Given the description of an element on the screen output the (x, y) to click on. 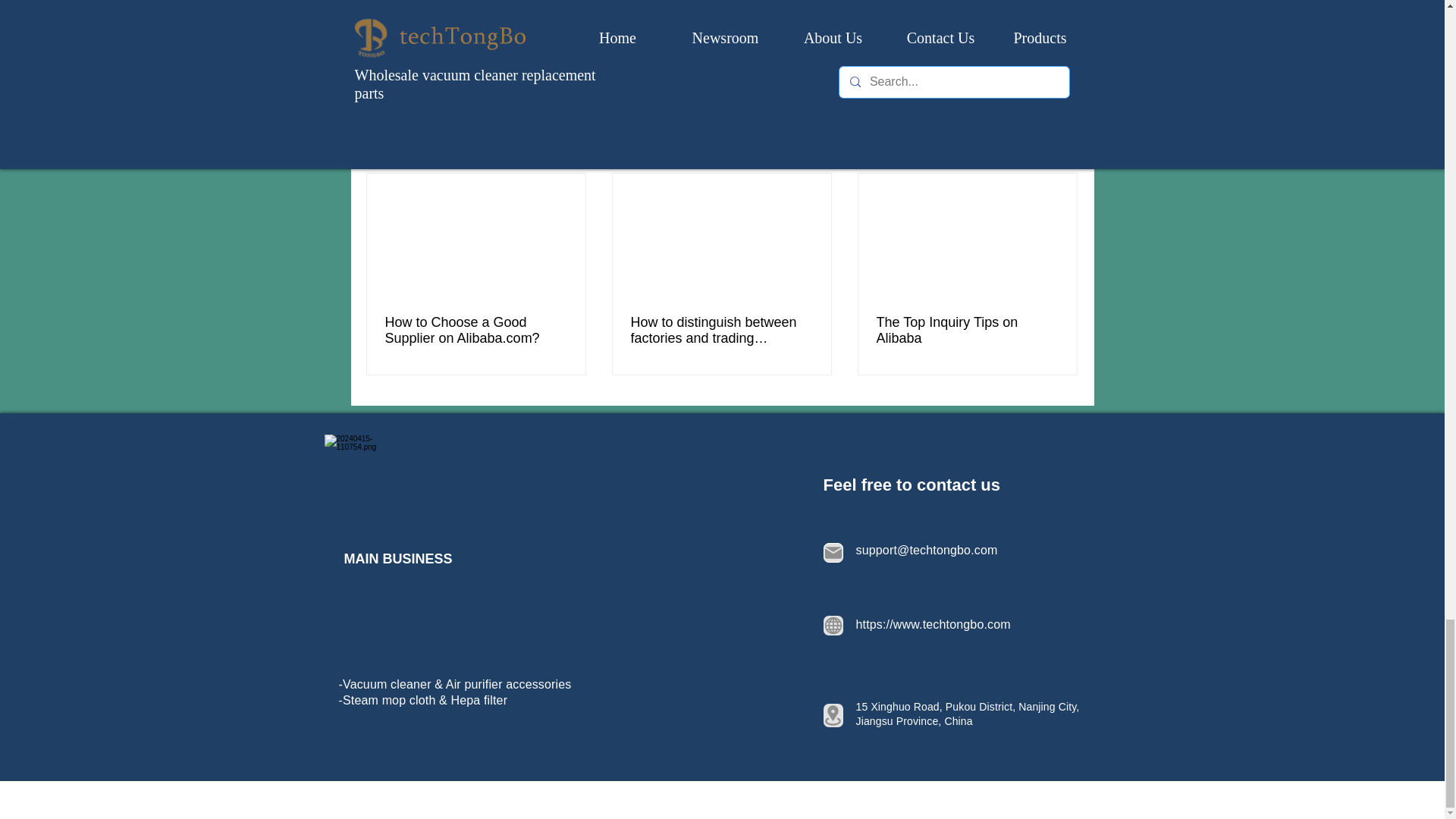
How to Choose a Good Supplier on Alibaba.com? (476, 330)
Thoughts (980, 49)
See All (1061, 146)
The Top Inquiry Tips on Alibaba (967, 330)
